Given the description of an element on the screen output the (x, y) to click on. 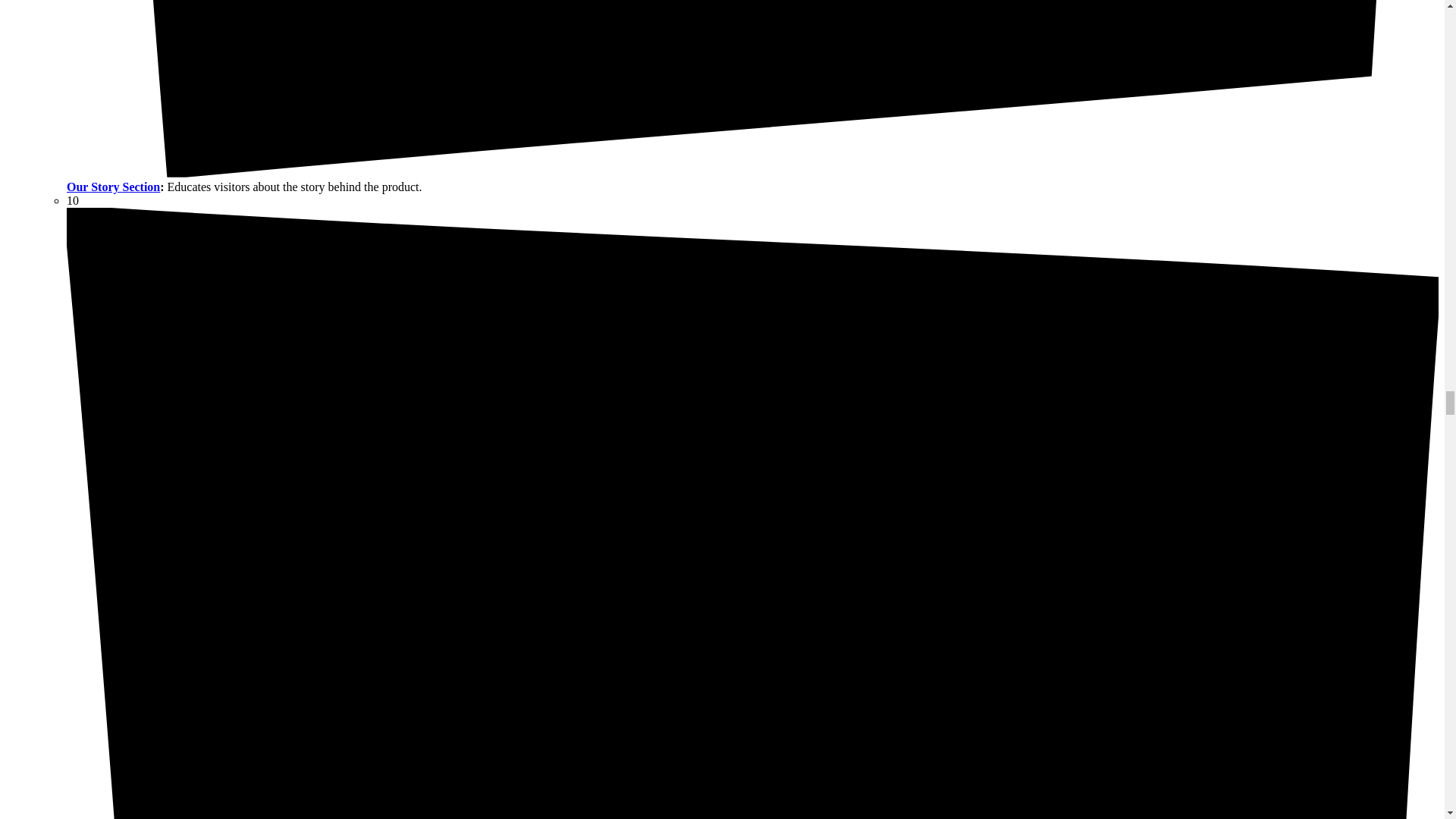
Our Story Section (113, 186)
Couch Gamers - Our Story (113, 186)
